Given the description of an element on the screen output the (x, y) to click on. 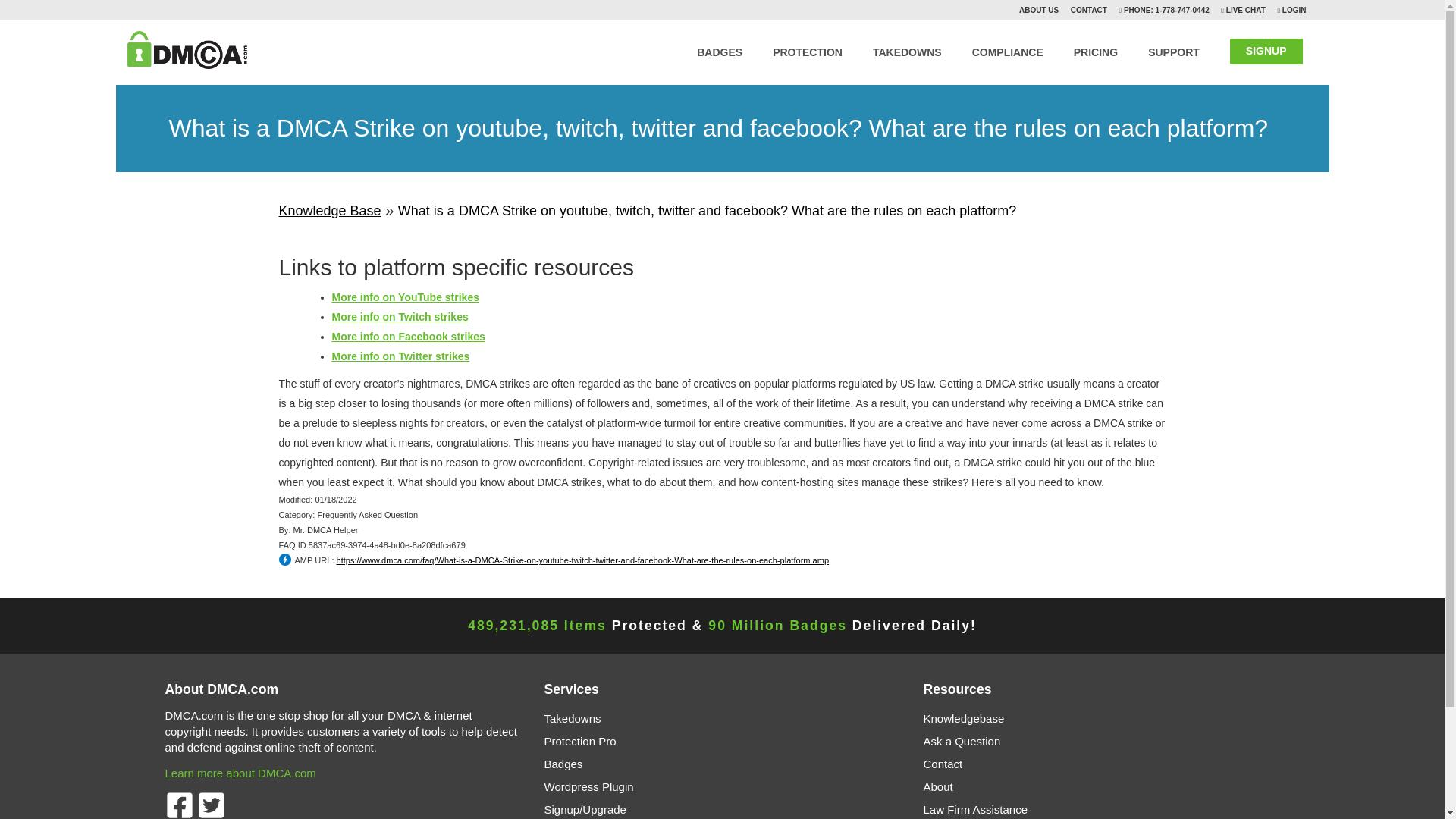
PROTECTION (808, 48)
Knowledge Base (330, 210)
CONTACT (1088, 9)
LOGIN (1294, 9)
ABOUT US (1038, 9)
LIVE CHAT (1244, 9)
PHONE: 1-778-747-0442 (1165, 9)
BADGES (719, 48)
